Given the description of an element on the screen output the (x, y) to click on. 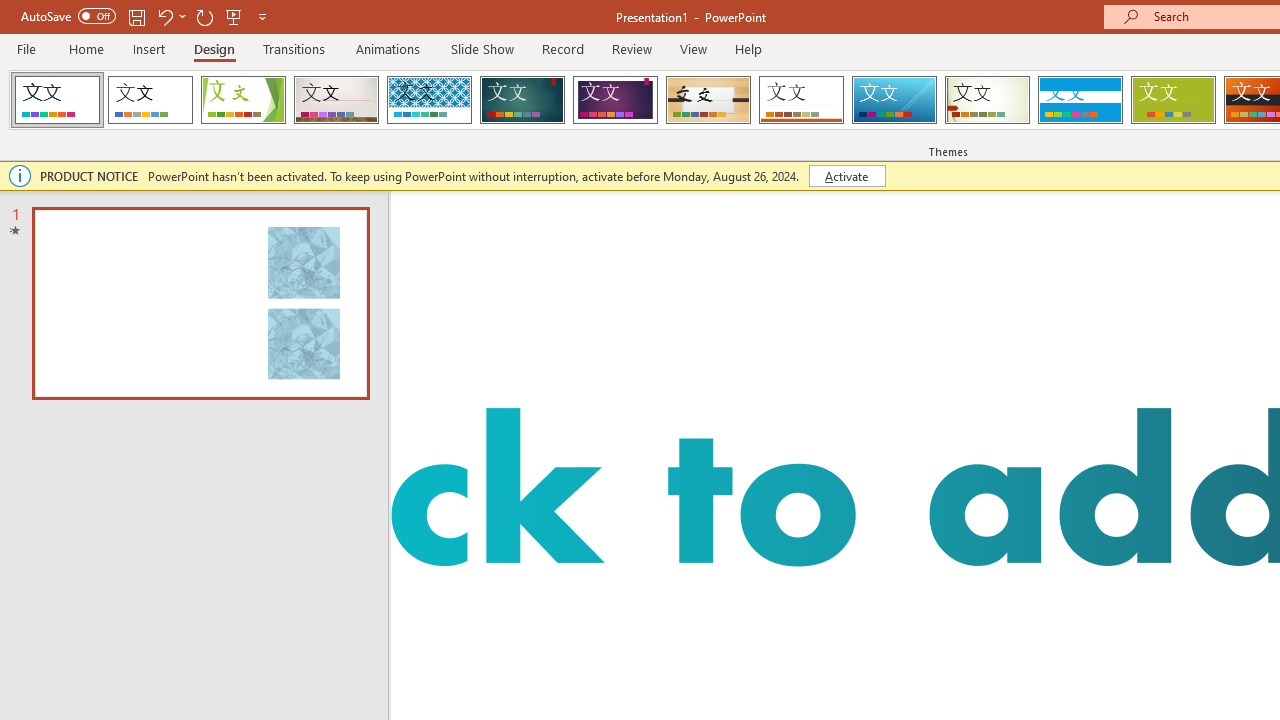
Integral (429, 100)
Wisp (987, 100)
Slice (893, 100)
Organic (708, 100)
FadeVTI (57, 100)
